Given the description of an element on the screen output the (x, y) to click on. 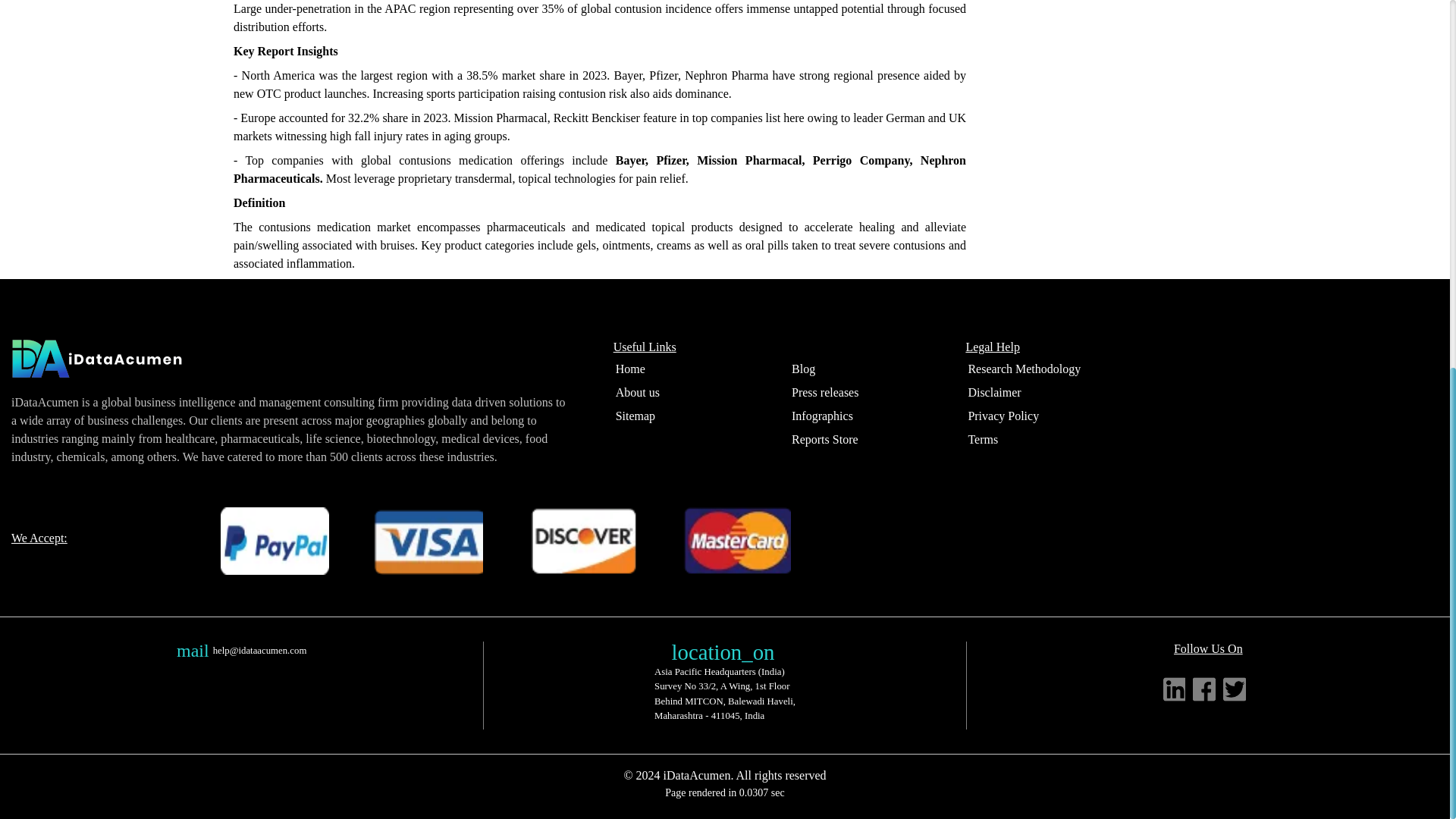
Privacy Policy (1003, 416)
Blog (802, 368)
Home (629, 368)
Sitemap (635, 416)
Disclaimer (994, 392)
Research Methodology (1024, 368)
Infographics (822, 416)
Reports Store (824, 438)
Press releases (824, 392)
About us (637, 392)
